Given the description of an element on the screen output the (x, y) to click on. 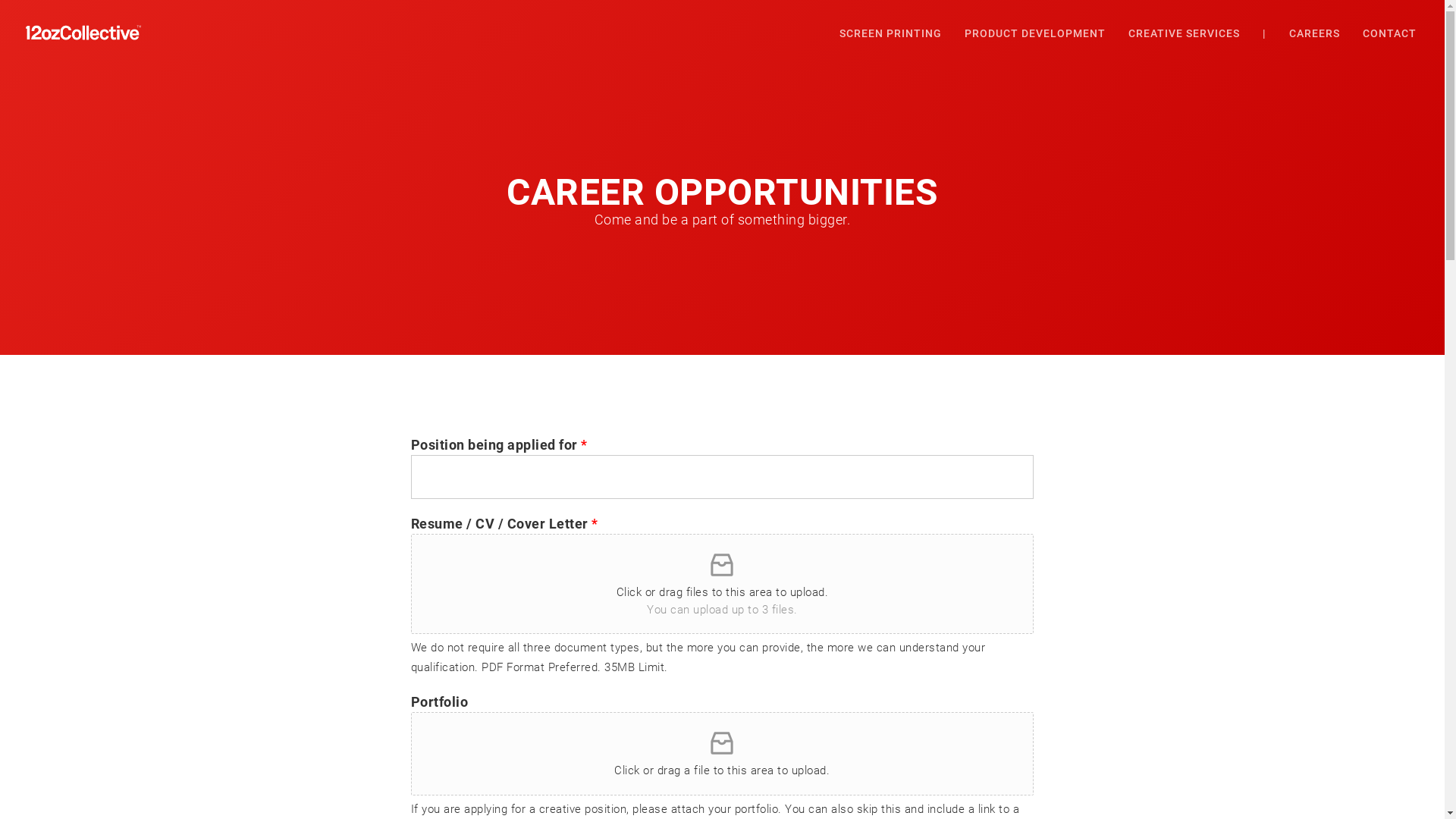
SCREEN PRINTING Element type: text (890, 32)
CREATIVE SERVICES Element type: text (1184, 32)
PRODUCT DEVELOPMENT Element type: text (1035, 32)
CAREERS Element type: text (1314, 32)
| Element type: text (1264, 32)
CONTACT Element type: text (1389, 32)
